Given the description of an element on the screen output the (x, y) to click on. 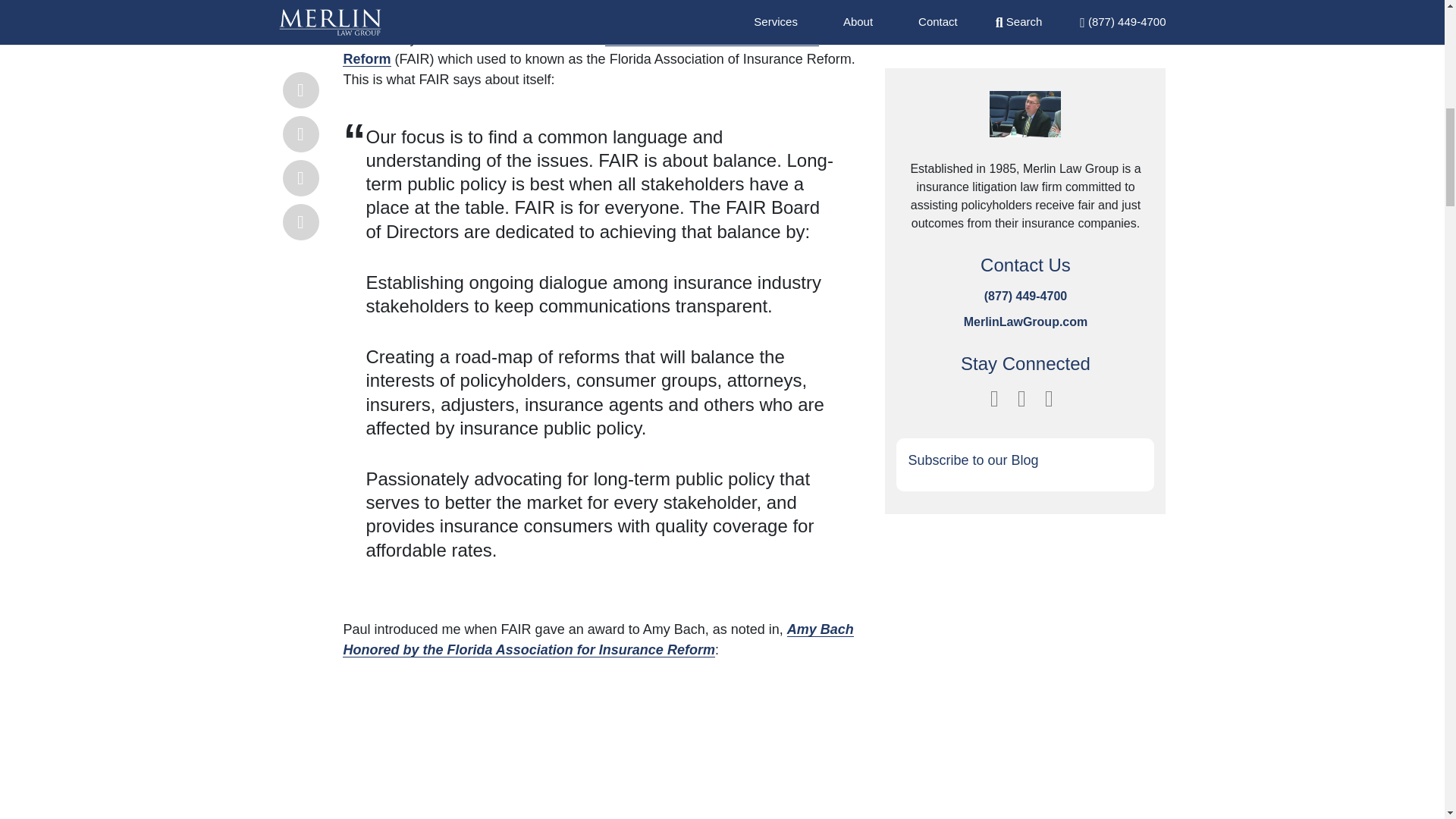
Amy Bach receives F.A.I.R. Consumer Champion award (585, 753)
Federal Association of Insurance Reform (580, 48)
